Given the description of an element on the screen output the (x, y) to click on. 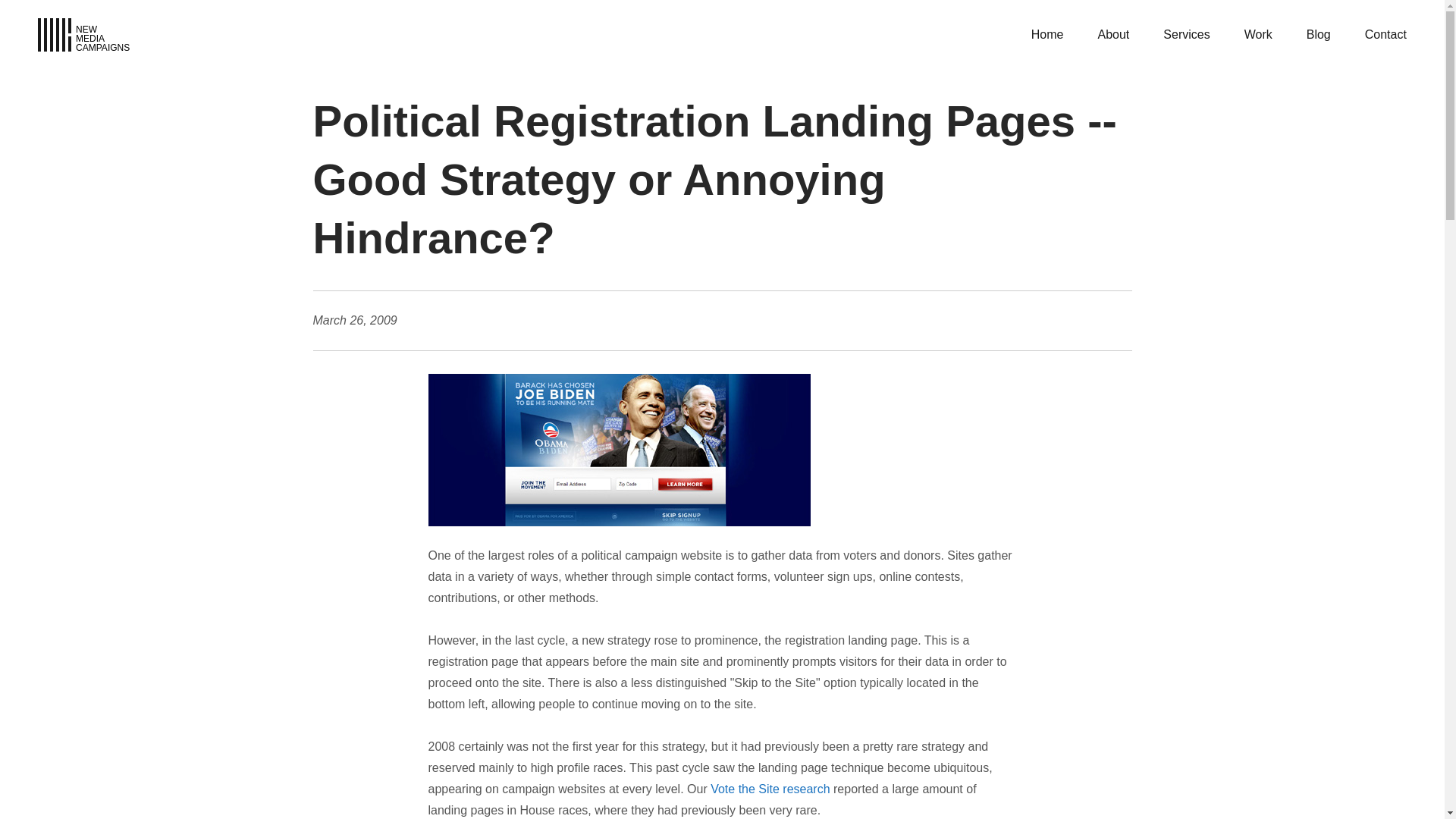
Work (1258, 33)
Contact (1385, 33)
Home (1047, 33)
Blog (83, 34)
About (1318, 33)
Vote the Site research (1113, 33)
homepage (769, 788)
Skip to Main Content (83, 34)
